Given the description of an element on the screen output the (x, y) to click on. 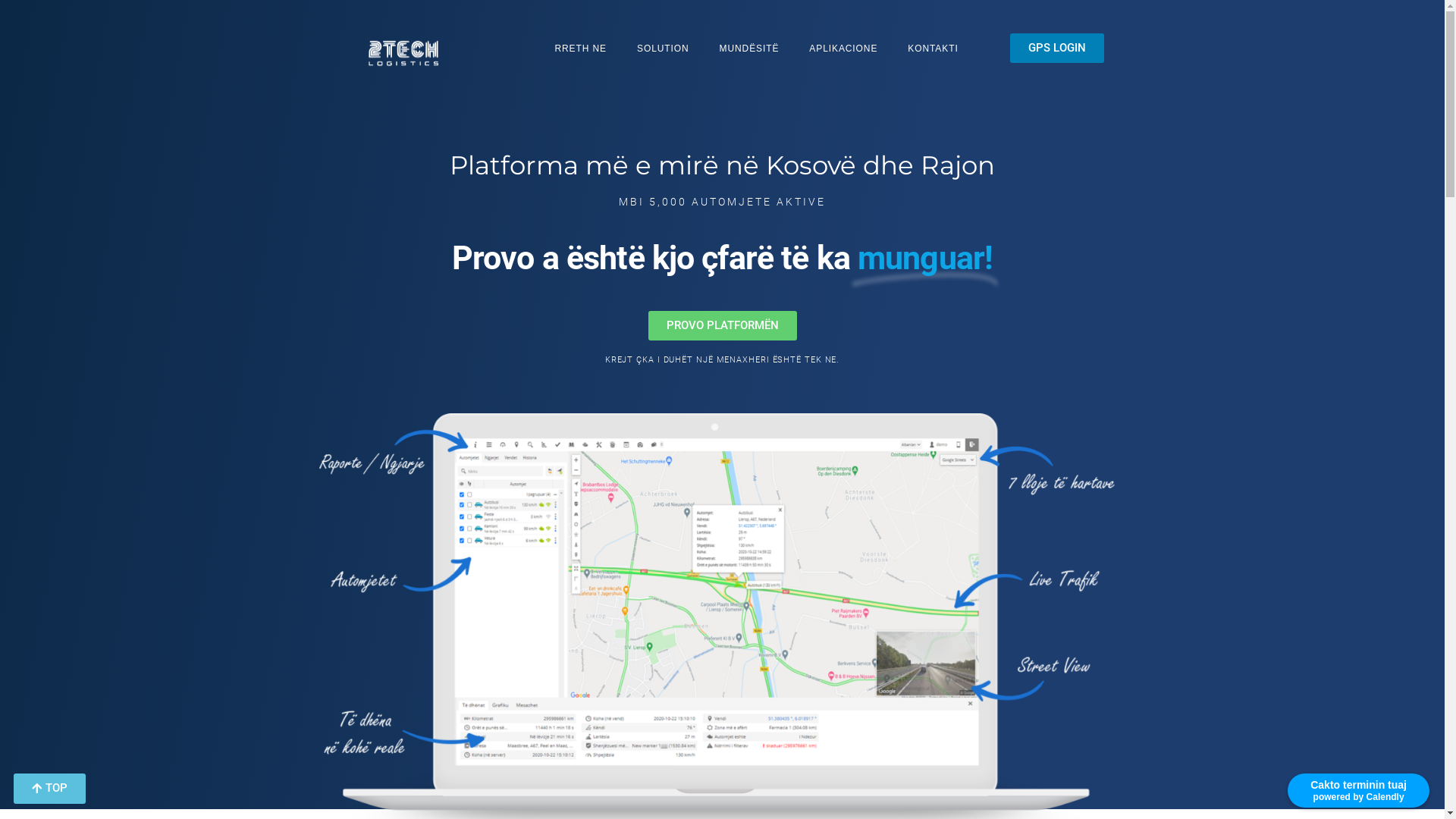
GPS LOGIN Element type: text (1057, 47)
LOGO_COLORw Element type: hover (402, 51)
APLIKACIONE Element type: text (842, 48)
RRETH NE Element type: text (580, 48)
TOP Element type: text (49, 788)
KONTAKTI Element type: text (932, 48)
SOLUTION Element type: text (662, 48)
